Given the description of an element on the screen output the (x, y) to click on. 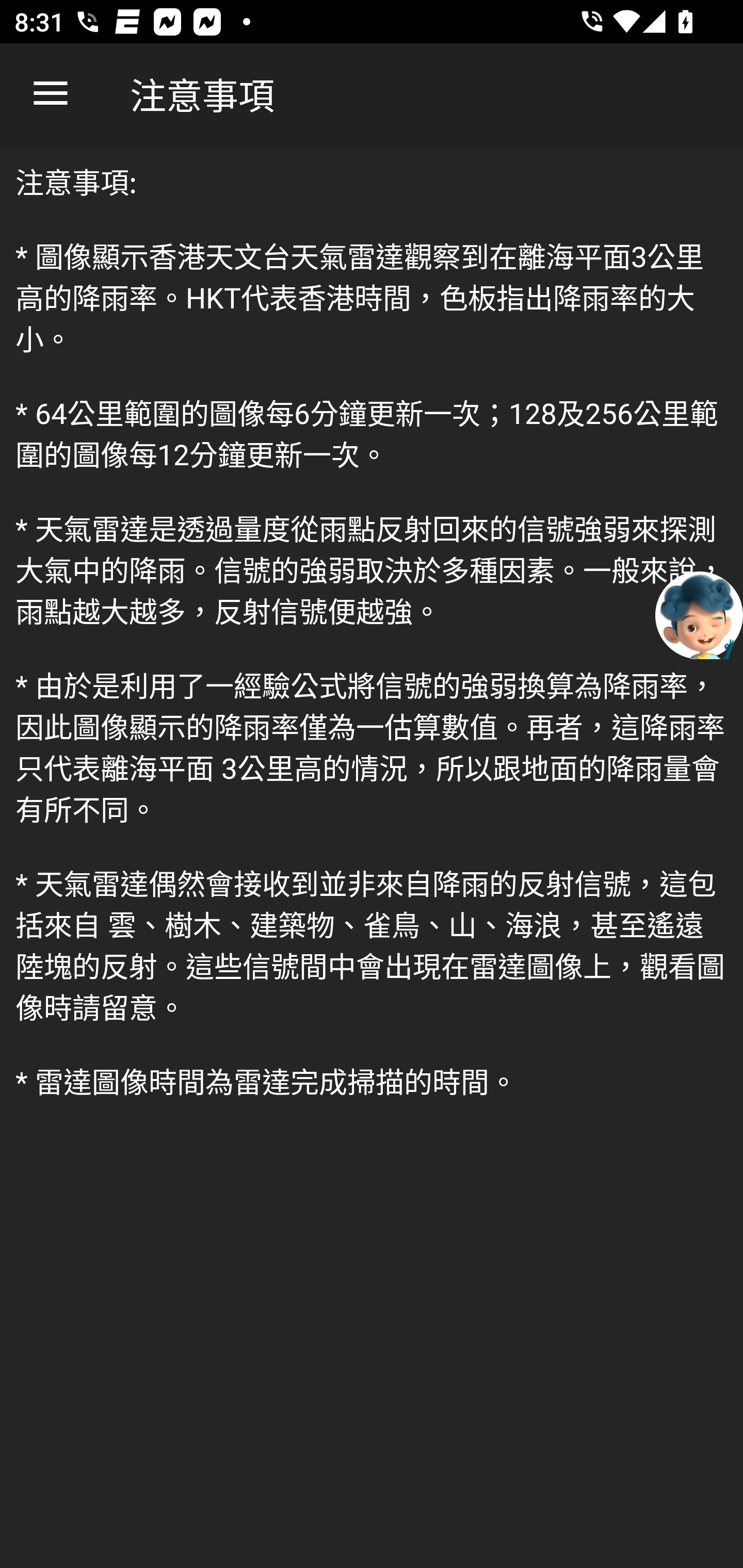
向上瀏覽 (50, 93)
聊天機械人 (699, 614)
